Given the description of an element on the screen output the (x, y) to click on. 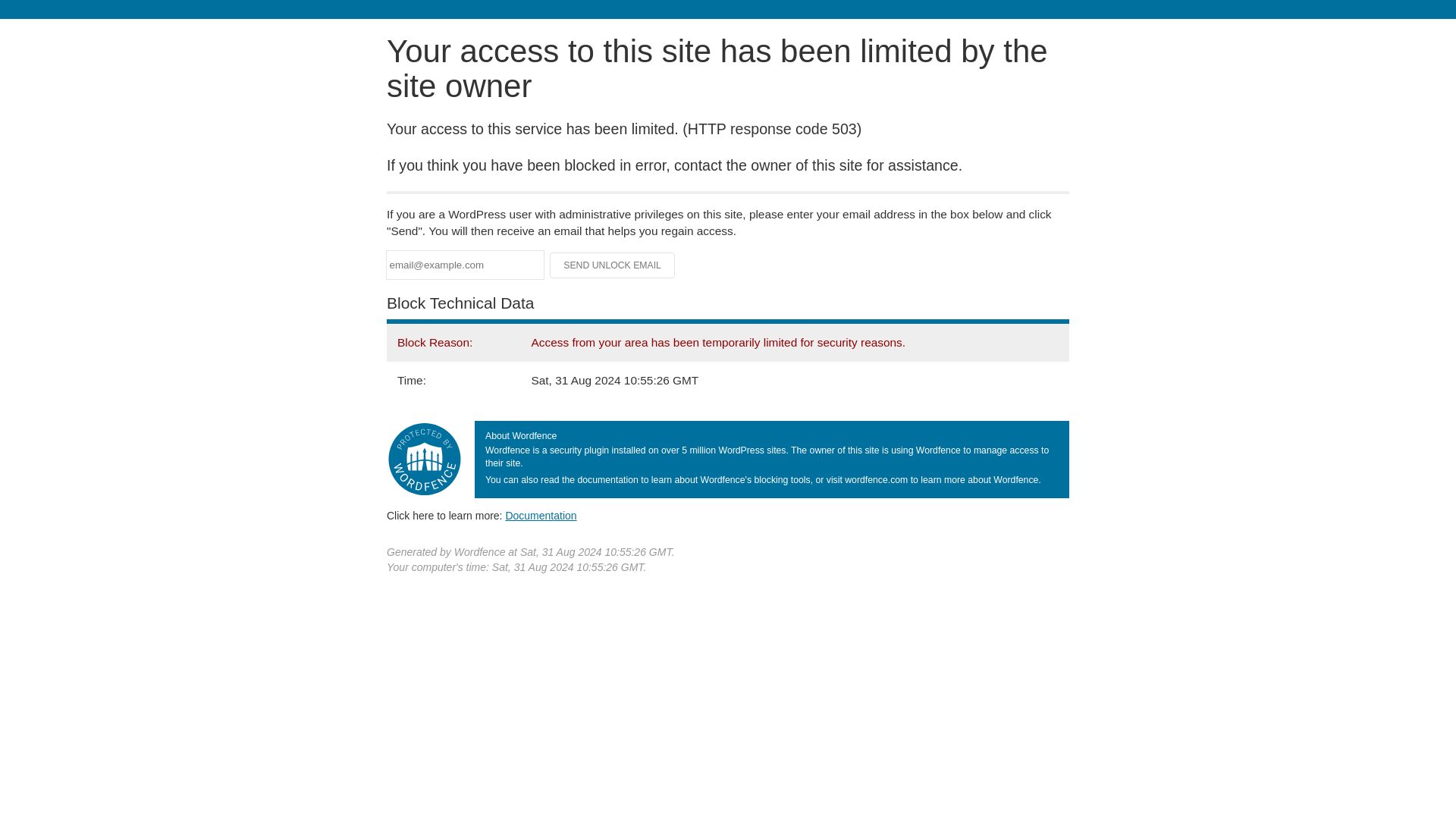
Documentation (540, 515)
Send Unlock Email (612, 265)
Send Unlock Email (612, 265)
